Given the description of an element on the screen output the (x, y) to click on. 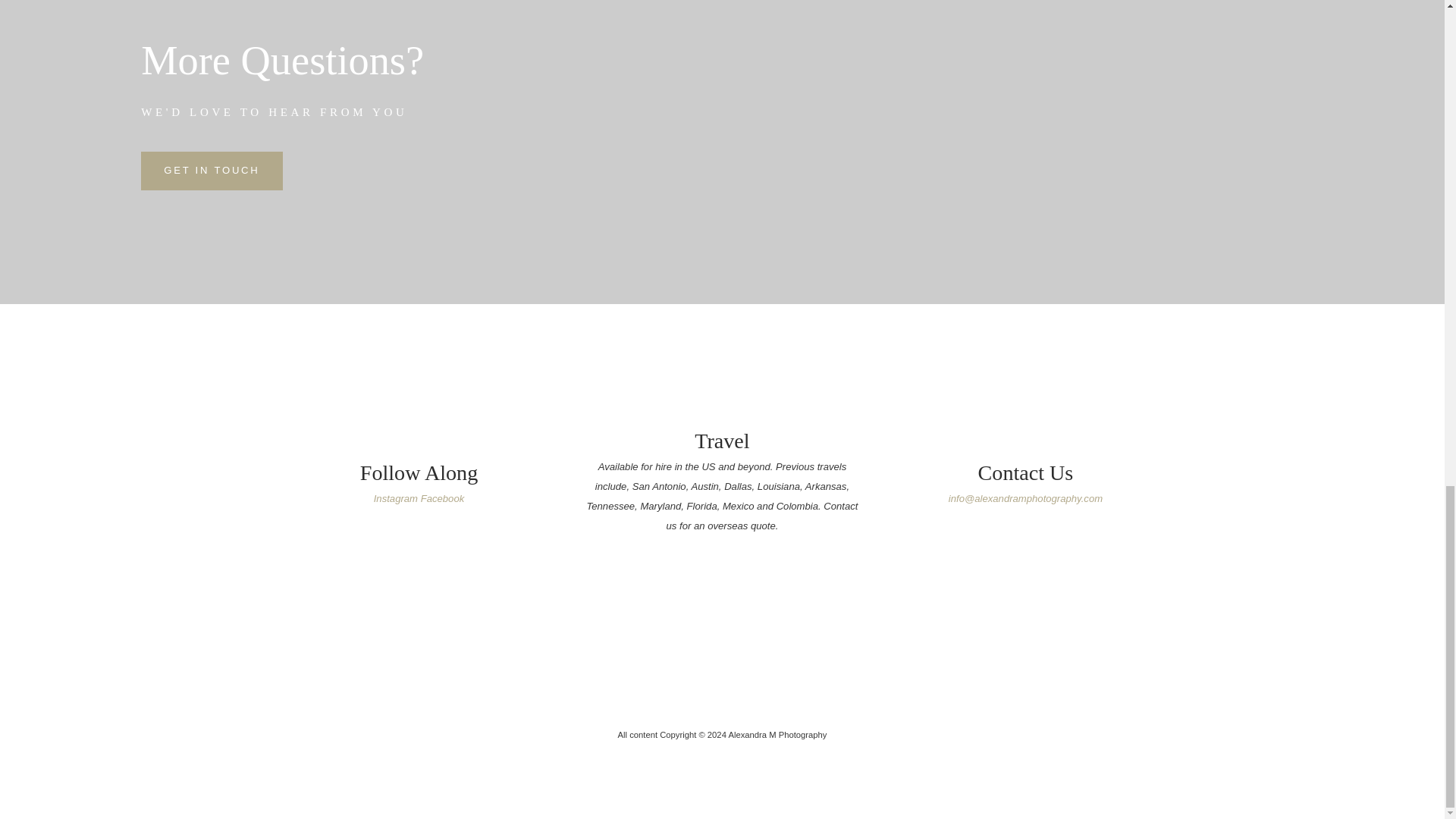
Facebook (442, 498)
Instagram (395, 498)
GET IN TOUCH (211, 170)
